Given the description of an element on the screen output the (x, y) to click on. 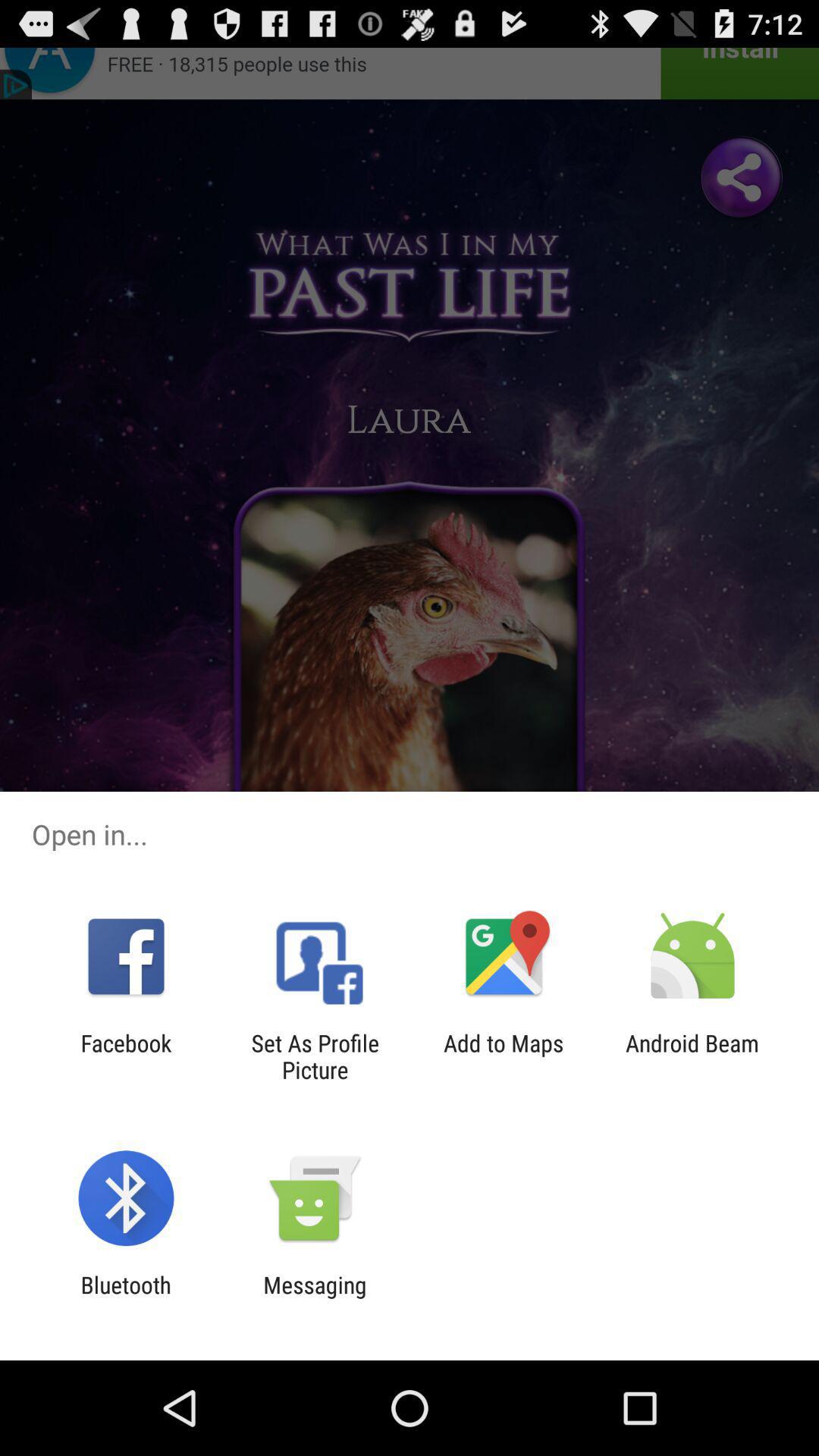
tap app next to the messaging app (125, 1298)
